Given the description of an element on the screen output the (x, y) to click on. 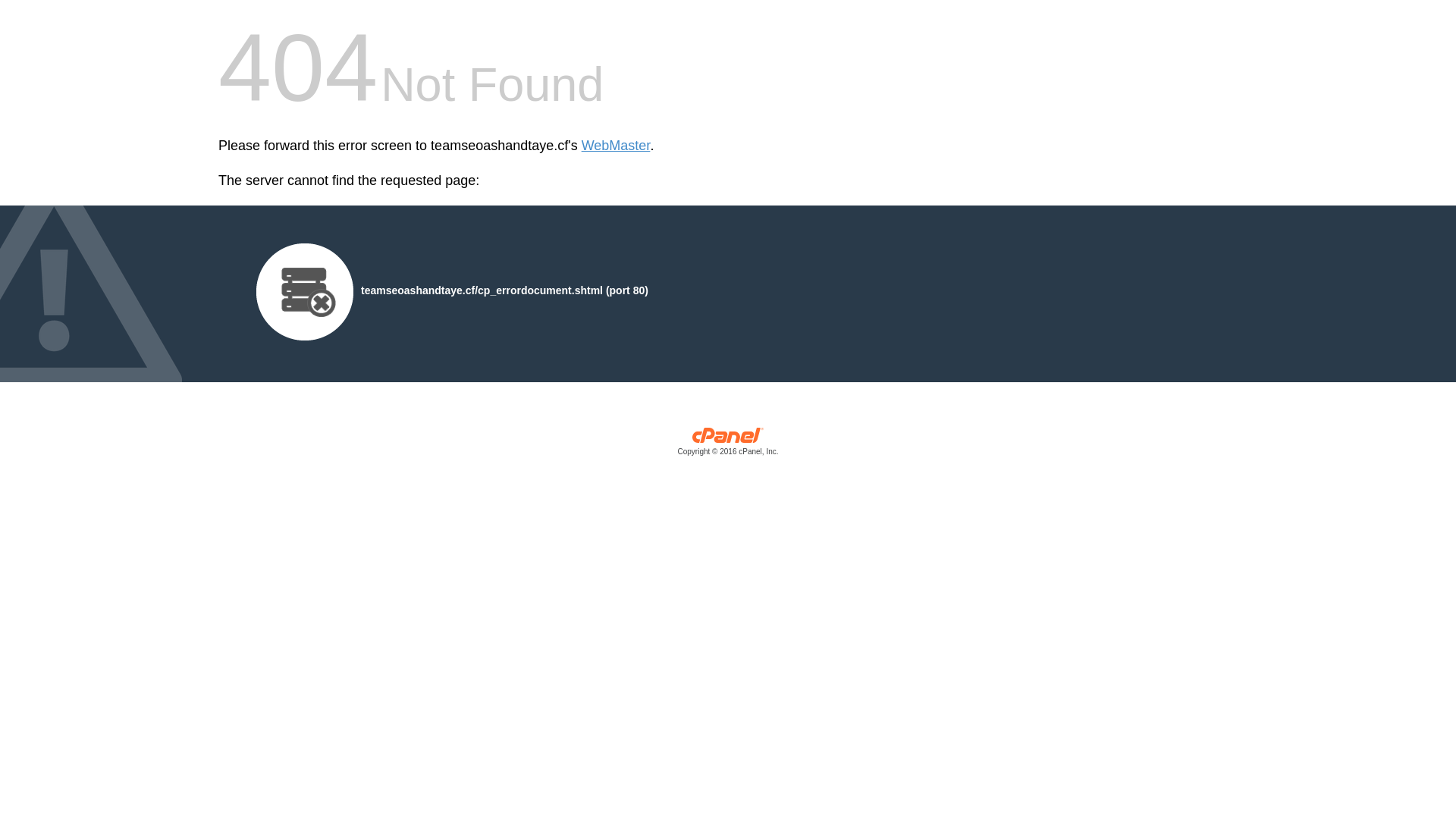
WebMaster Element type: text (615, 145)
